Given the description of an element on the screen output the (x, y) to click on. 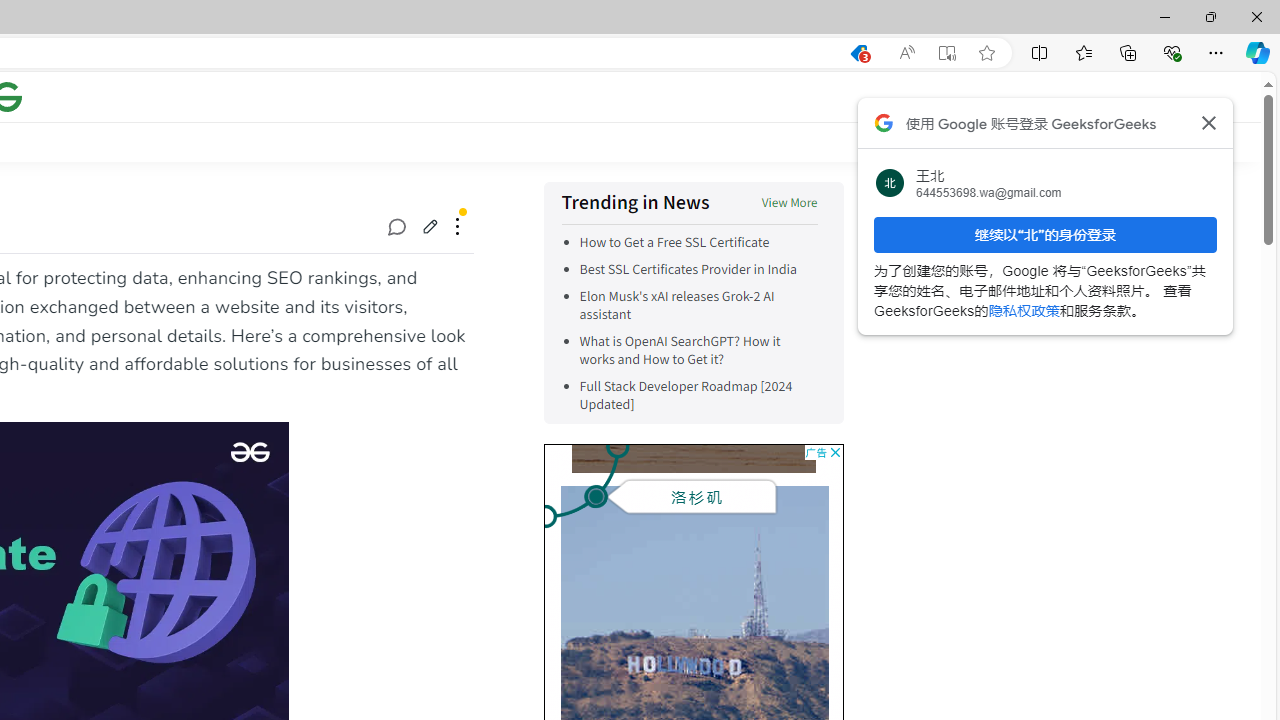
AutomationID: brandFlyLogo (805, 484)
What is OpenAI SearchGPT? How it works and How to Get it? (679, 350)
This site has coupons! Shopping in Microsoft Edge, 3 (858, 53)
How to Get a Free SSL Certificate (674, 242)
AutomationID: cbb (834, 452)
AutomationID: wheel (542, 448)
Class: Bz112c Bz112c-r9oPif (1208, 122)
